Given the description of an element on the screen output the (x, y) to click on. 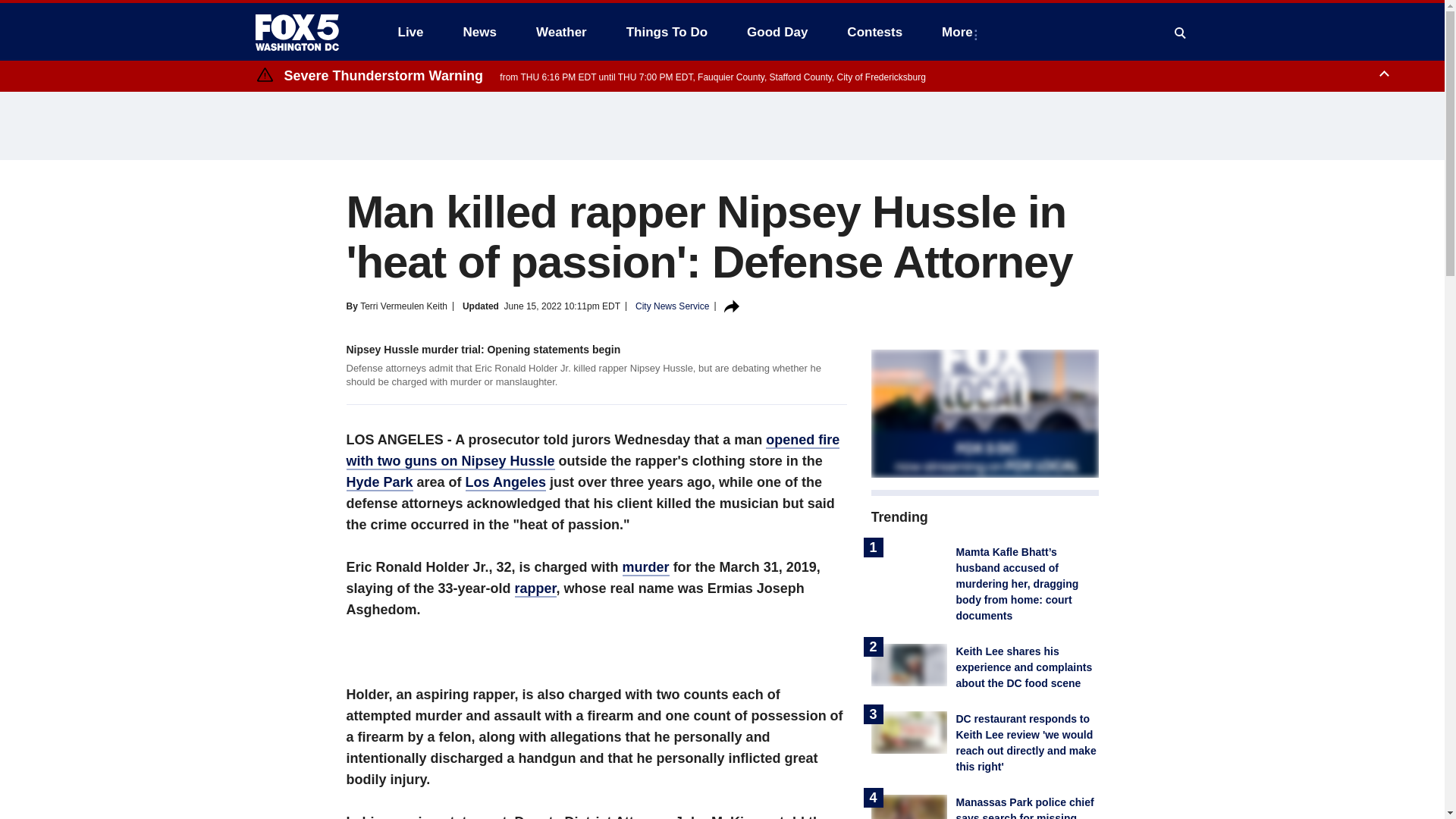
Things To Do (666, 32)
Good Day (777, 32)
Contests (874, 32)
Live (410, 32)
News (479, 32)
Weather (561, 32)
More (960, 32)
